Given the description of an element on the screen output the (x, y) to click on. 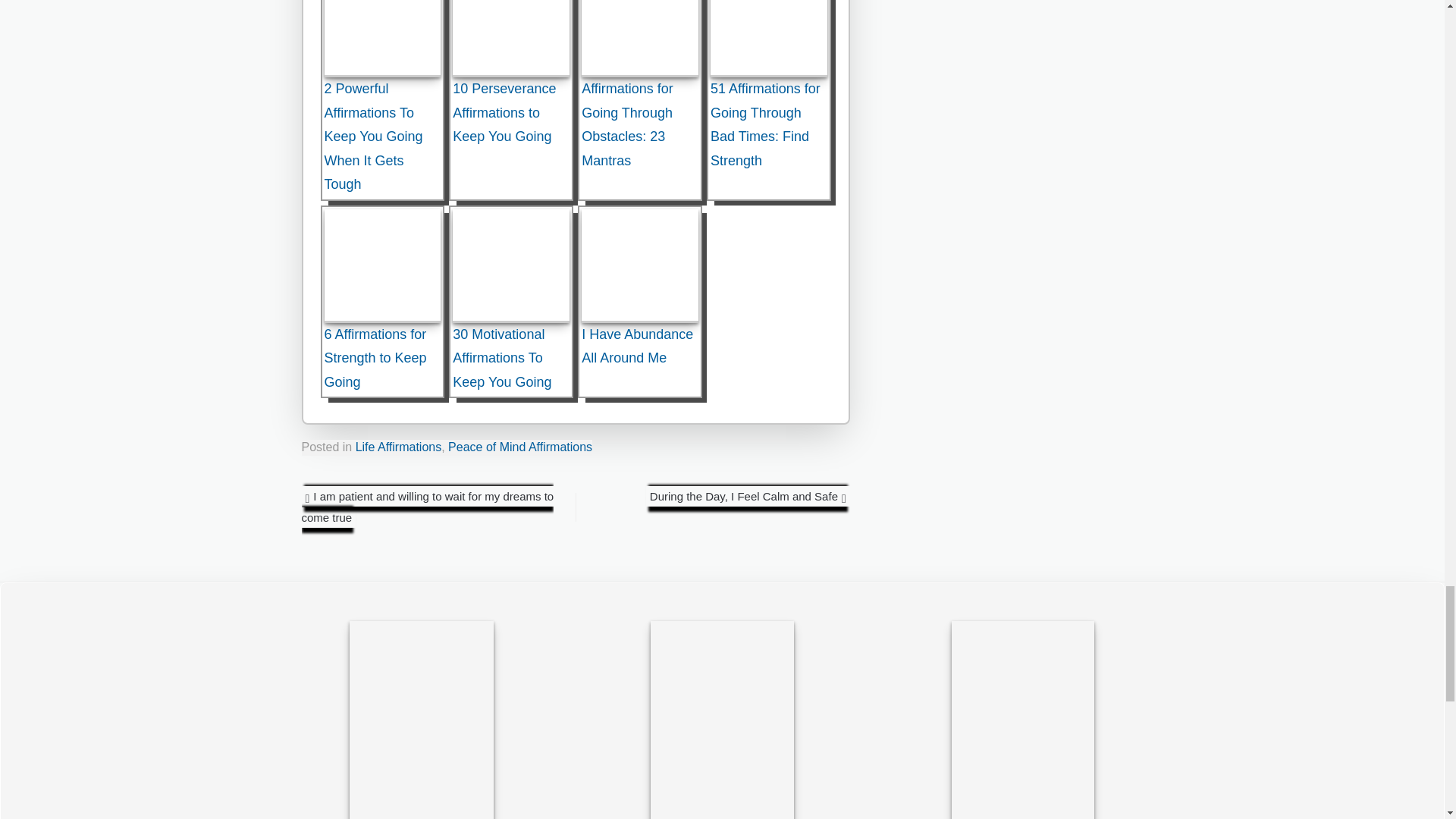
6 Affirmations for Strength to Keep Going (381, 265)
30 Motivational Affirmations To Keep You Going (510, 265)
2 Powerful Affirmations To Keep You Going When It Gets Tough (381, 38)
51 Affirmations for Going Through Bad Times: Find Strength (768, 38)
I Have Abundance All Around Me (640, 265)
Affirmations for Going Through Obstacles: 23 Mantras (640, 38)
10 Perseverance Affirmations to Keep You Going (510, 38)
